Given the description of an element on the screen output the (x, y) to click on. 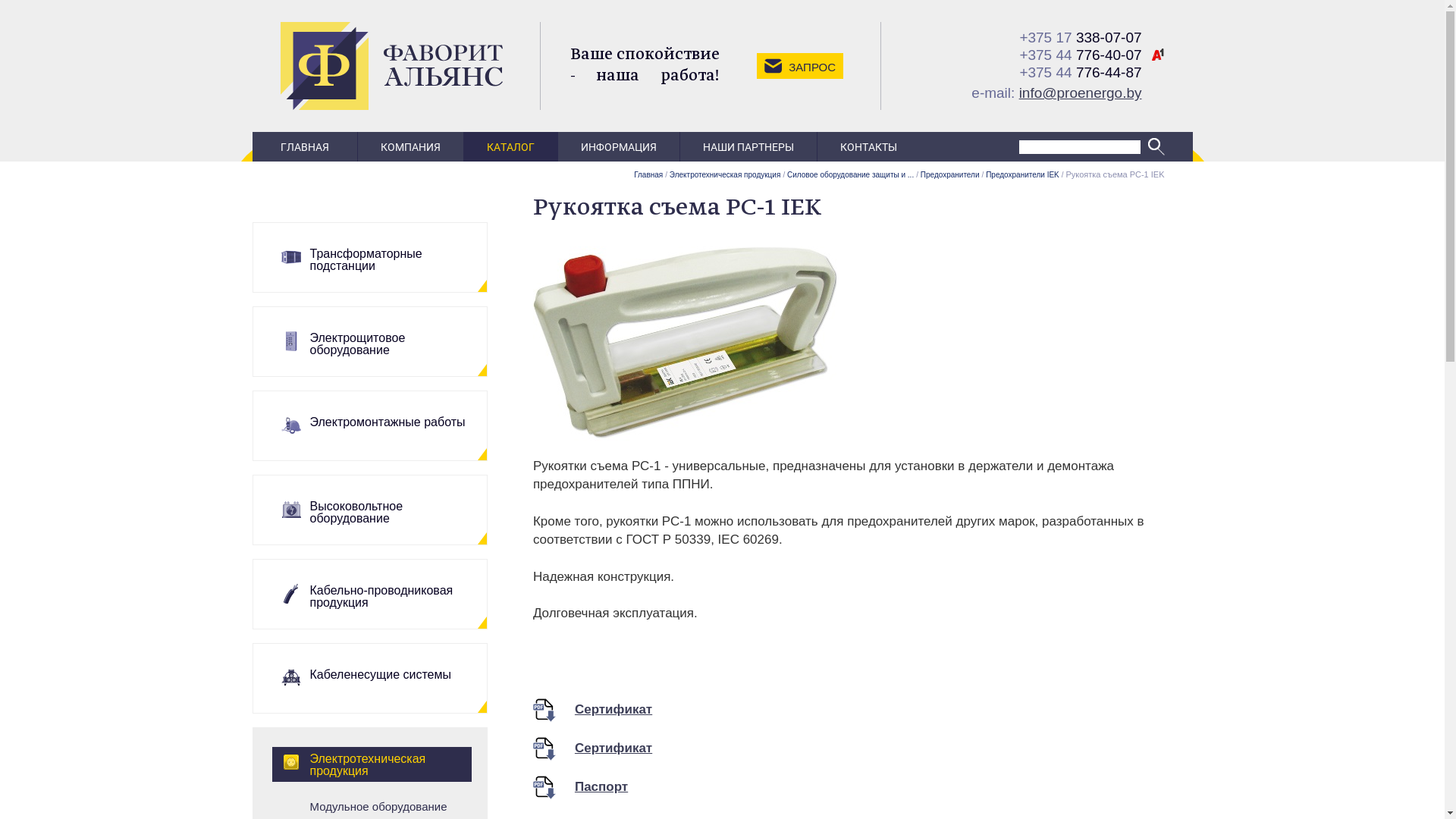
+375 44 776-44-87 Element type: text (1080, 71)
info@proenergo.by Element type: text (1080, 92)
+375 44 776-40-07 Element type: text (1080, 54)
+375 17 338-07-07 Element type: text (1080, 37)
